Given the description of an element on the screen output the (x, y) to click on. 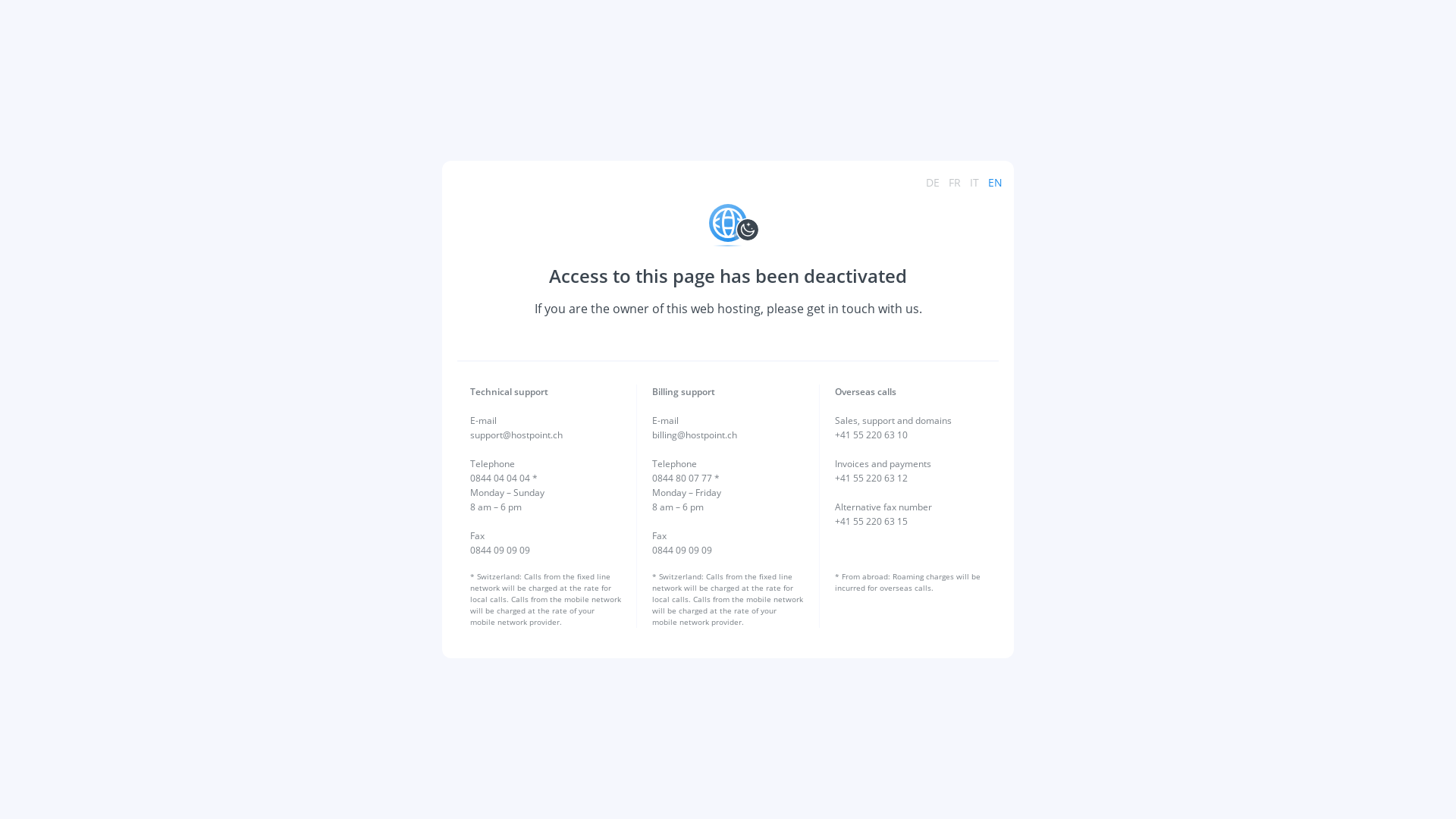
billing@hostpoint.ch Element type: text (694, 434)
support@hostpoint.ch Element type: text (516, 434)
